Given the description of an element on the screen output the (x, y) to click on. 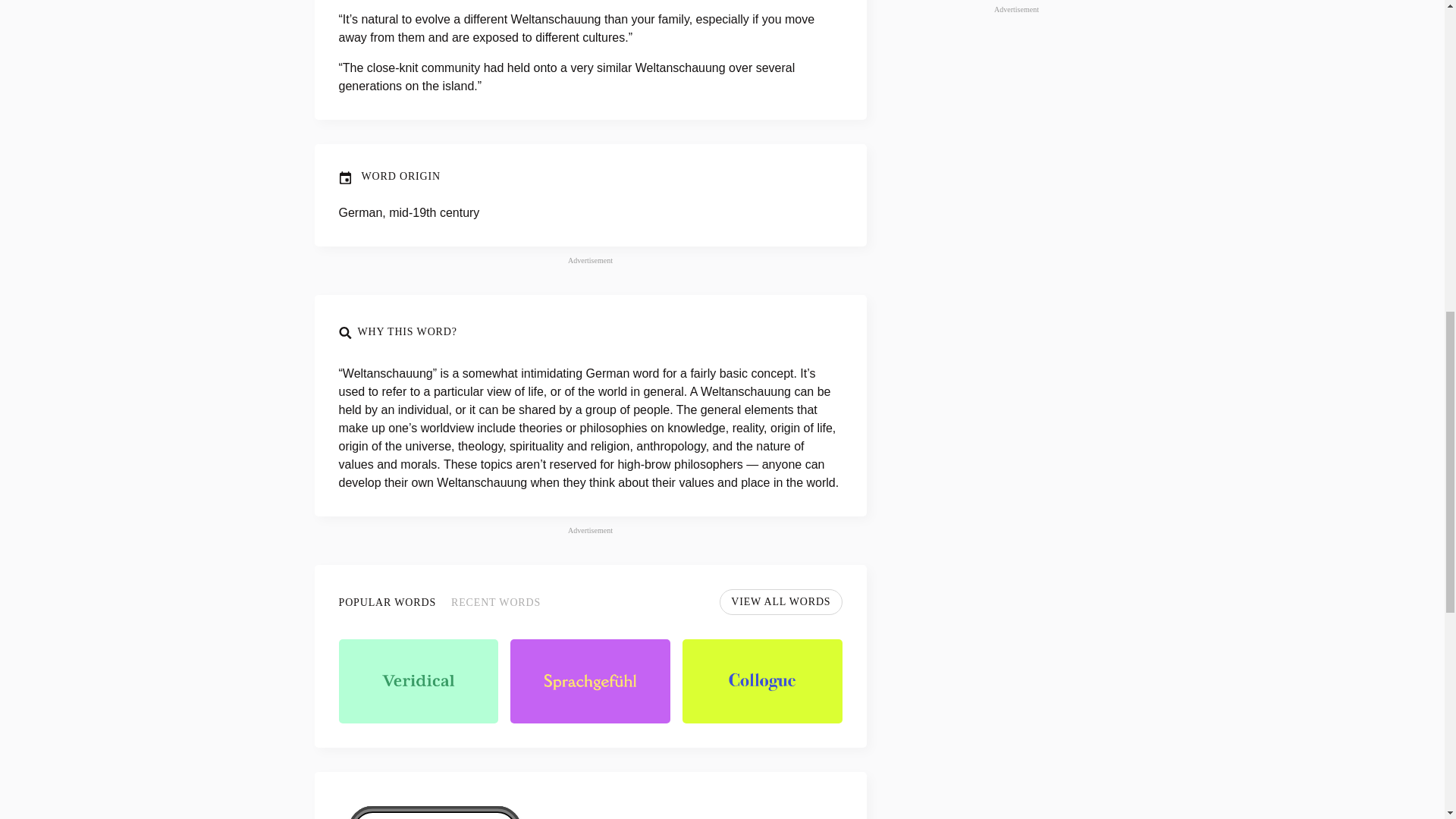
RECENT WORDS (495, 602)
POPULAR WORDS (386, 602)
VIEW ALL WORDS (780, 601)
